Given the description of an element on the screen output the (x, y) to click on. 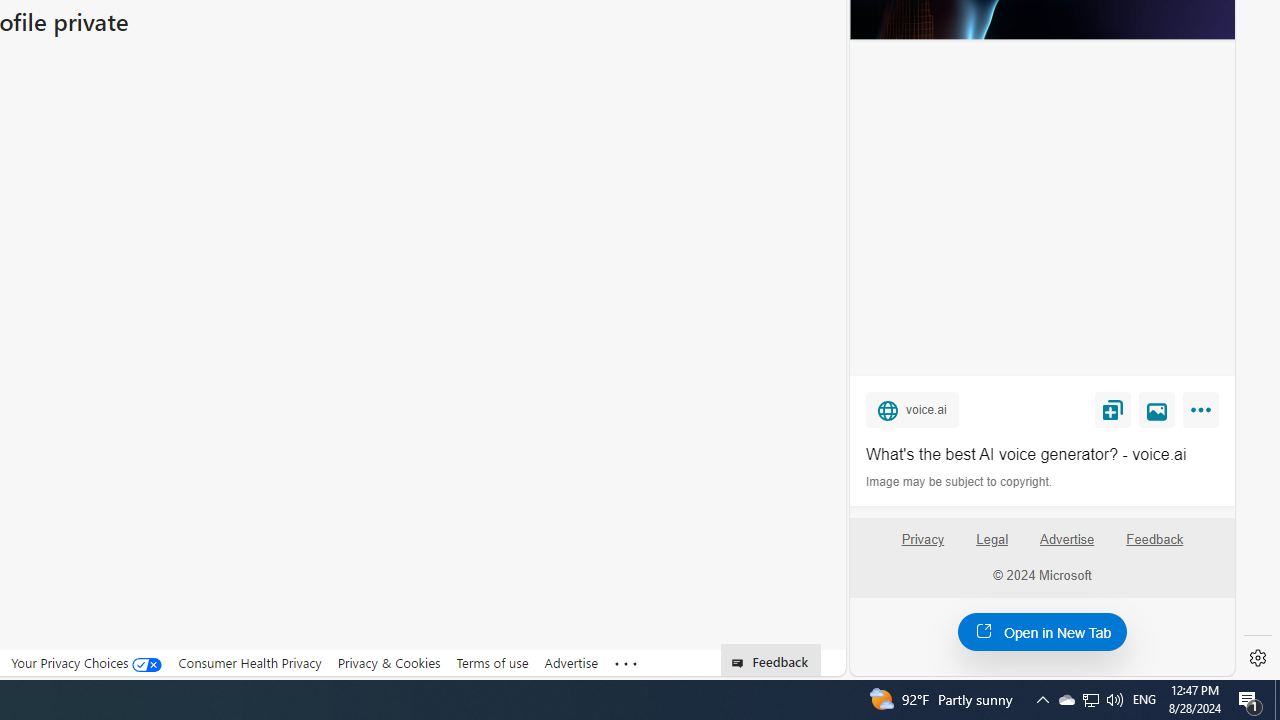
Privacy (922, 547)
Privacy & Cookies (388, 663)
Class: oneFooter_seeMore-DS-EntryPoint1-1 (625, 663)
Consumer Health Privacy (249, 663)
What's the best AI voice generator? - voice.ai (1042, 454)
Legal (992, 547)
View image (1157, 409)
Privacy (922, 539)
Settings (1258, 658)
Open in New Tab (1042, 631)
More (1204, 413)
Terms of use (491, 662)
